Given the description of an element on the screen output the (x, y) to click on. 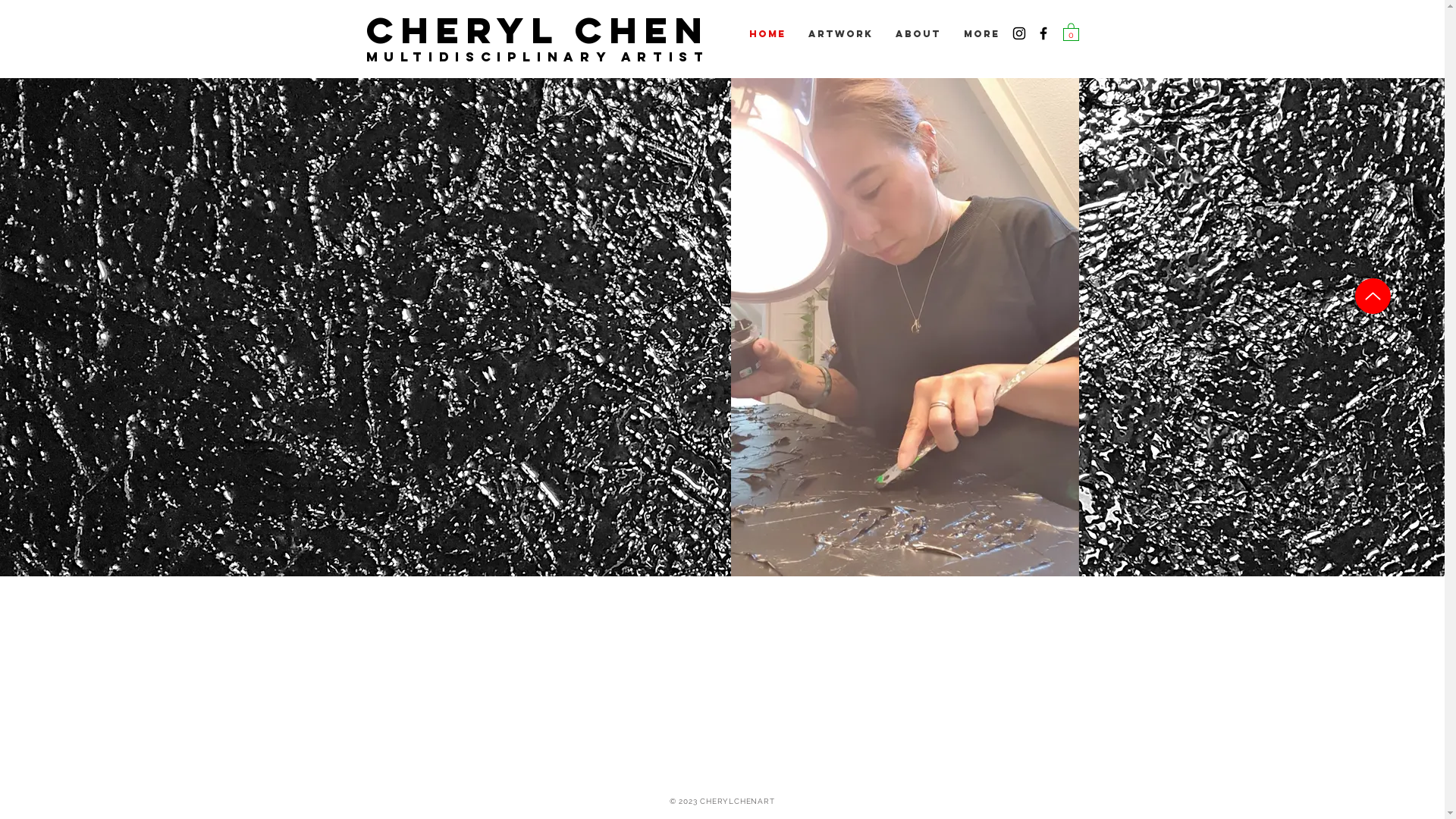
ABOUT Element type: text (918, 34)
ARTWORK Element type: text (839, 34)
0 Element type: text (1071, 30)
HOME Element type: text (766, 34)
